Given the description of an element on the screen output the (x, y) to click on. 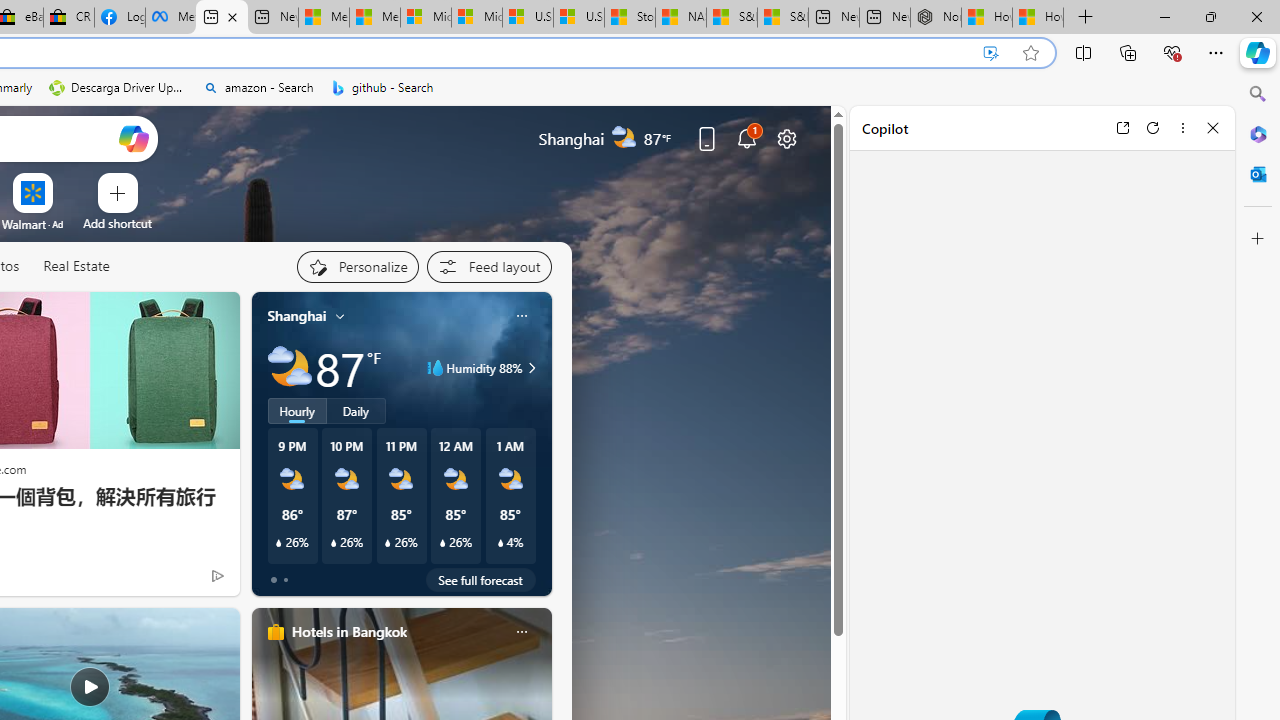
Descarga Driver Updater (118, 88)
Partly cloudy (289, 368)
Meta Store (170, 17)
Daily (356, 411)
